Given the description of an element on the screen output the (x, y) to click on. 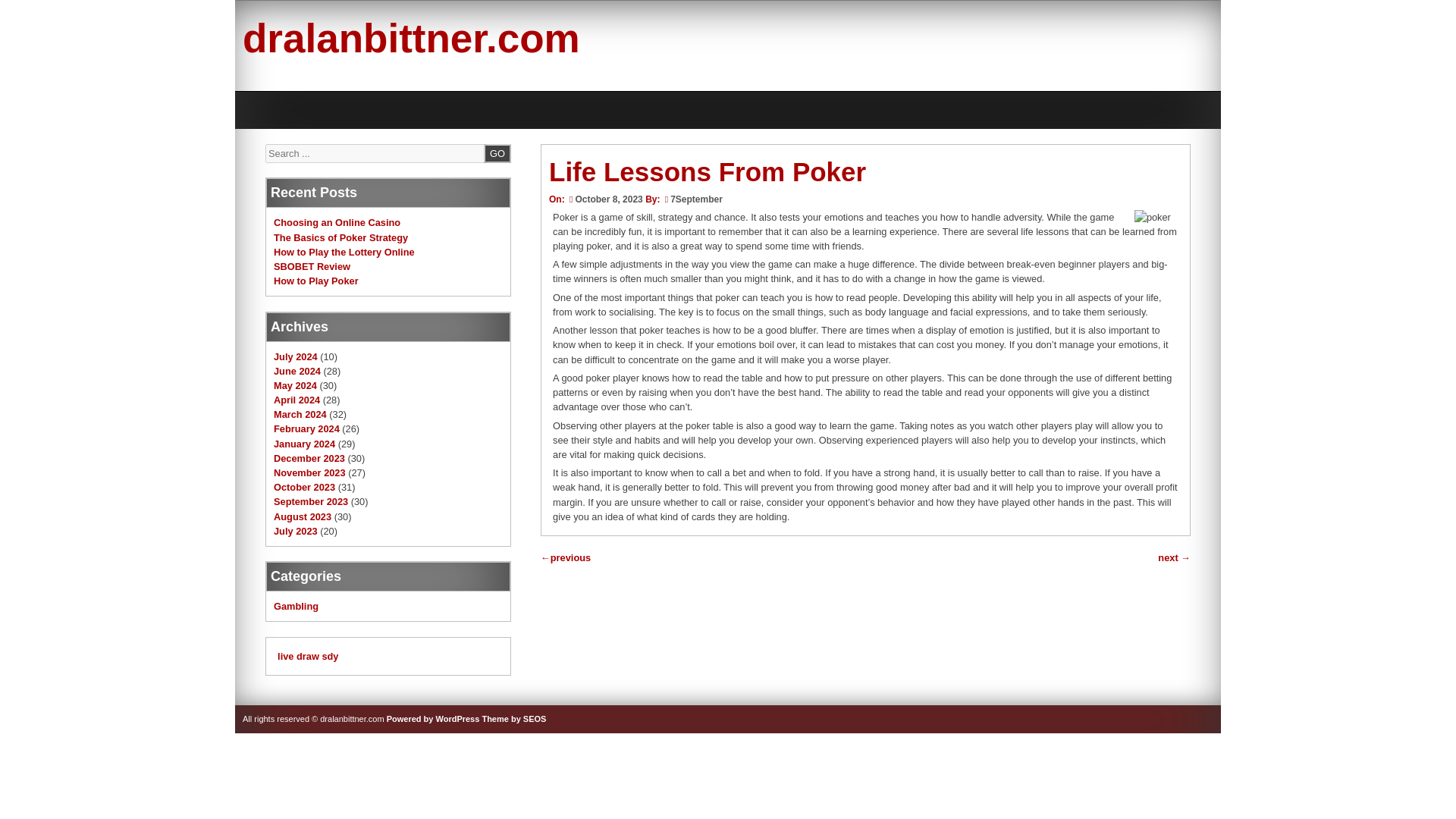
7September (695, 199)
November 2023 (309, 472)
October 8, 2023 (605, 199)
GO (497, 153)
October 2023 (303, 487)
How to Play Poker (315, 280)
dralanbittner.com (411, 37)
SBOBET Review (311, 266)
Powered by WordPress (433, 718)
March 2024 (299, 414)
